Given the description of an element on the screen output the (x, y) to click on. 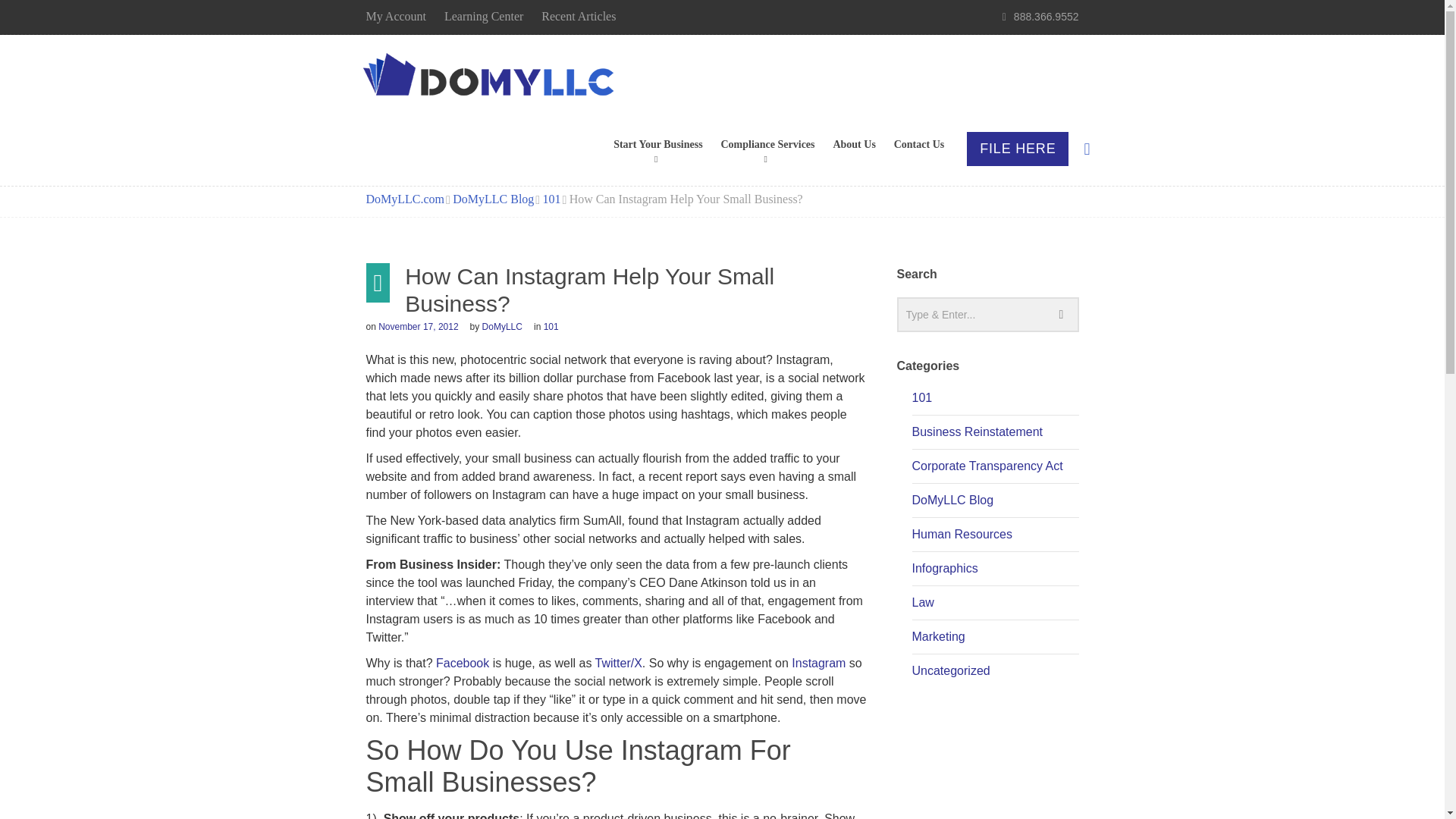
Recent Articles (578, 15)
DoMyLLC.com (491, 77)
View all posts by DoMyLLC (501, 326)
Go to the DoMyLLC Blog Category archives. (493, 198)
888.366.9552 (1045, 16)
My Account (395, 15)
Go to DoMyLLC.com. (404, 198)
Go to the 101 Category archives. (551, 198)
Learning Center (483, 15)
